Given the description of an element on the screen output the (x, y) to click on. 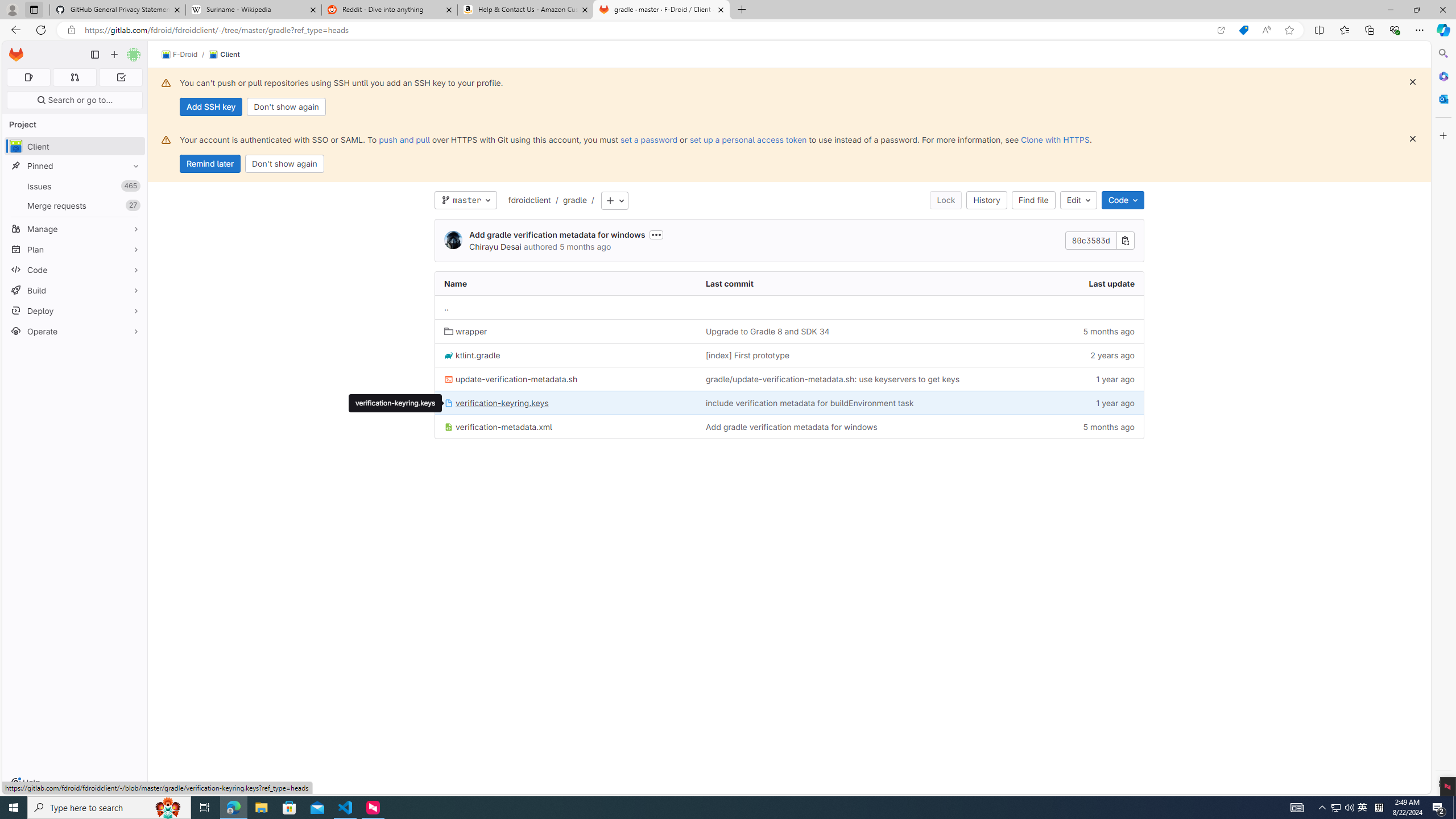
Dismiss (1412, 138)
History (986, 199)
[index] First prototype (746, 354)
Name (566, 283)
ktlint.gradle (566, 355)
Unpin Issues (132, 186)
Class: s16 position-relative file-icon (448, 427)
2 years ago (1077, 355)
Clone with HTTPS (1054, 139)
verification-metadata.xml (566, 426)
